Given the description of an element on the screen output the (x, y) to click on. 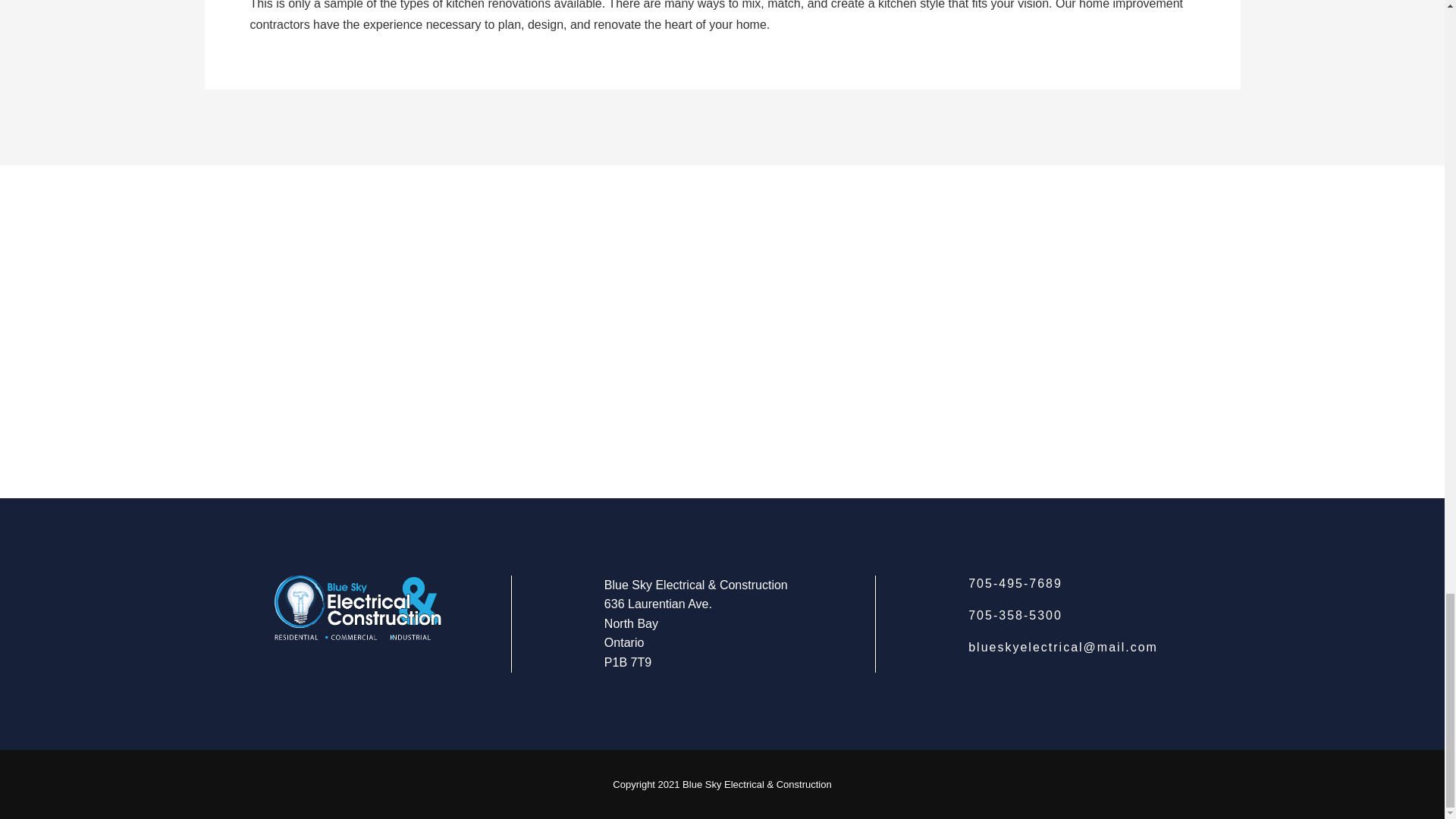
BLUE SKY ELECTRICAL logo (358, 608)
